Given the description of an element on the screen output the (x, y) to click on. 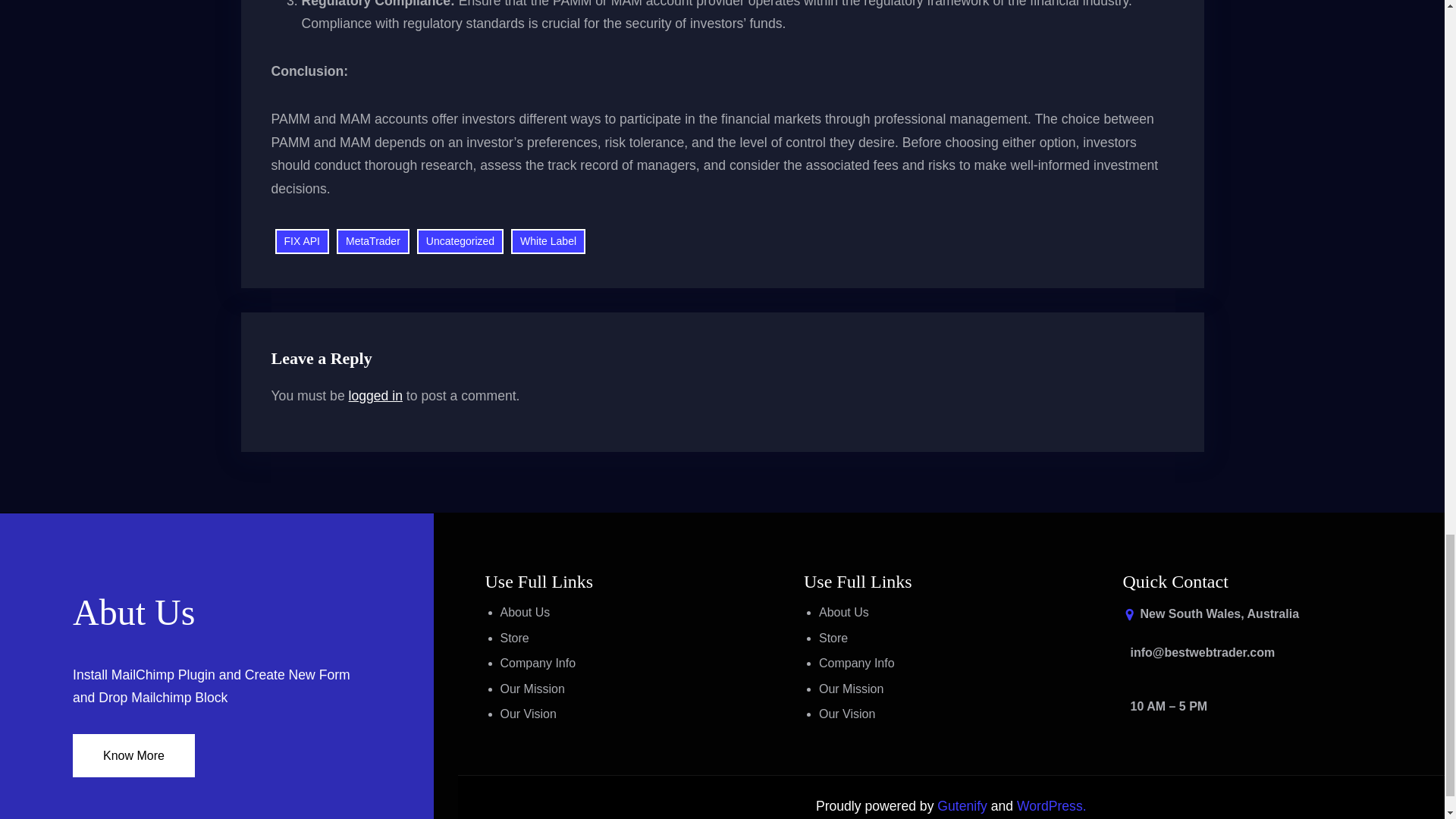
Gutenify (963, 806)
Know More (133, 755)
FIX API (302, 241)
WordPress. (1051, 806)
Uncategorized (459, 241)
logged in (376, 395)
White Label (548, 241)
MetaTrader (372, 241)
